Given the description of an element on the screen output the (x, y) to click on. 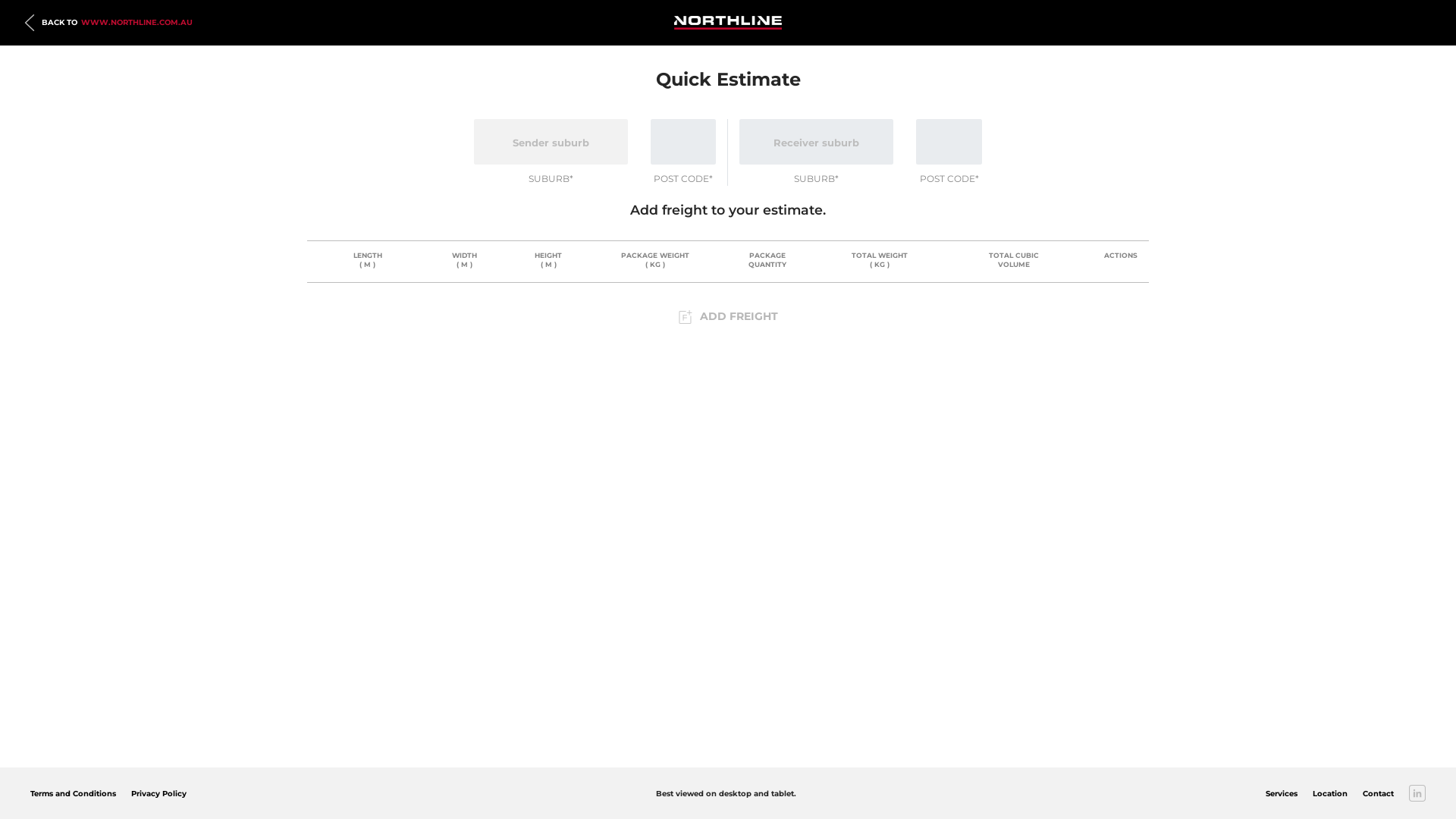
ADD FREIGHT Element type: text (727, 316)
Location Element type: text (1329, 792)
Terms and Conditions Element type: text (73, 792)
Services Element type: text (1281, 792)
Contact Element type: text (1377, 792)
Privacy Policy Element type: text (158, 792)
